Given the description of an element on the screen output the (x, y) to click on. 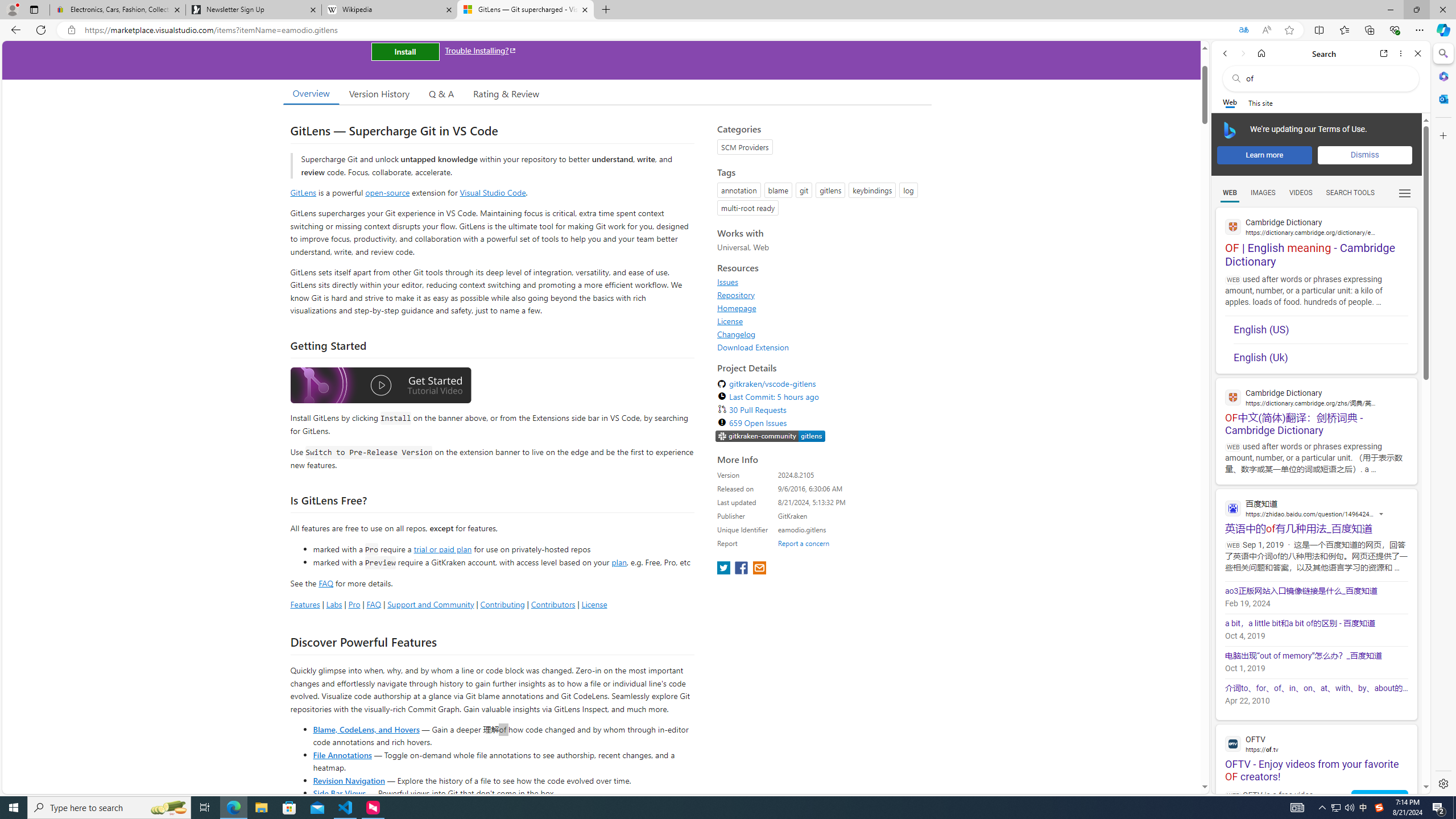
To get missing image descriptions, open the context menu. (1229, 130)
share extension on email (759, 568)
Blame, CodeLens, and Hovers (366, 728)
Report a concern (803, 542)
Electronics, Cars, Fashion, Collectibles & More | eBay (117, 9)
Features (304, 603)
share extension on twitter (724, 568)
